Given the description of an element on the screen output the (x, y) to click on. 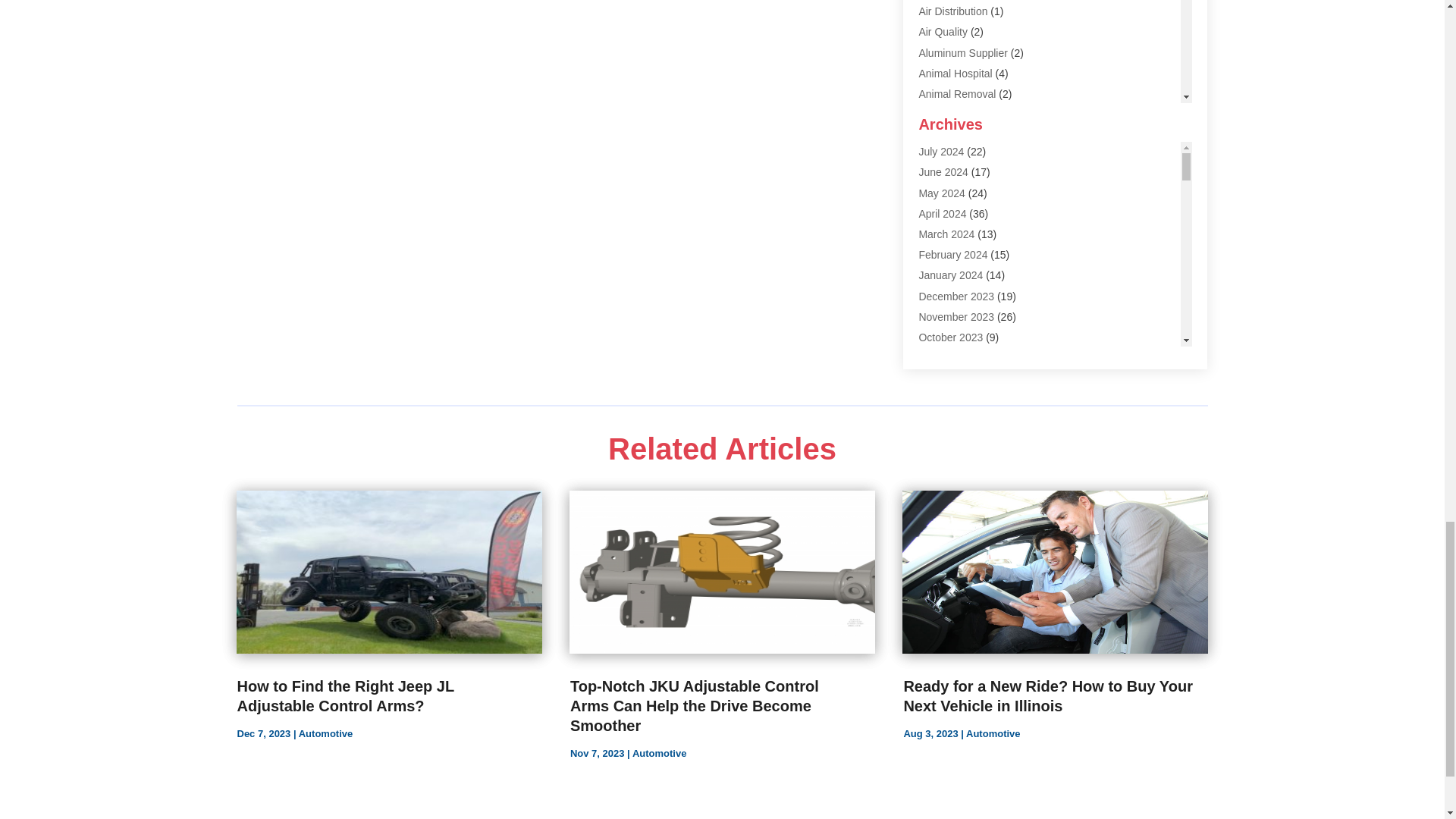
Aluminum Supplier (962, 52)
Air Quality (943, 31)
Air Distribution (952, 10)
